Given the description of an element on the screen output the (x, y) to click on. 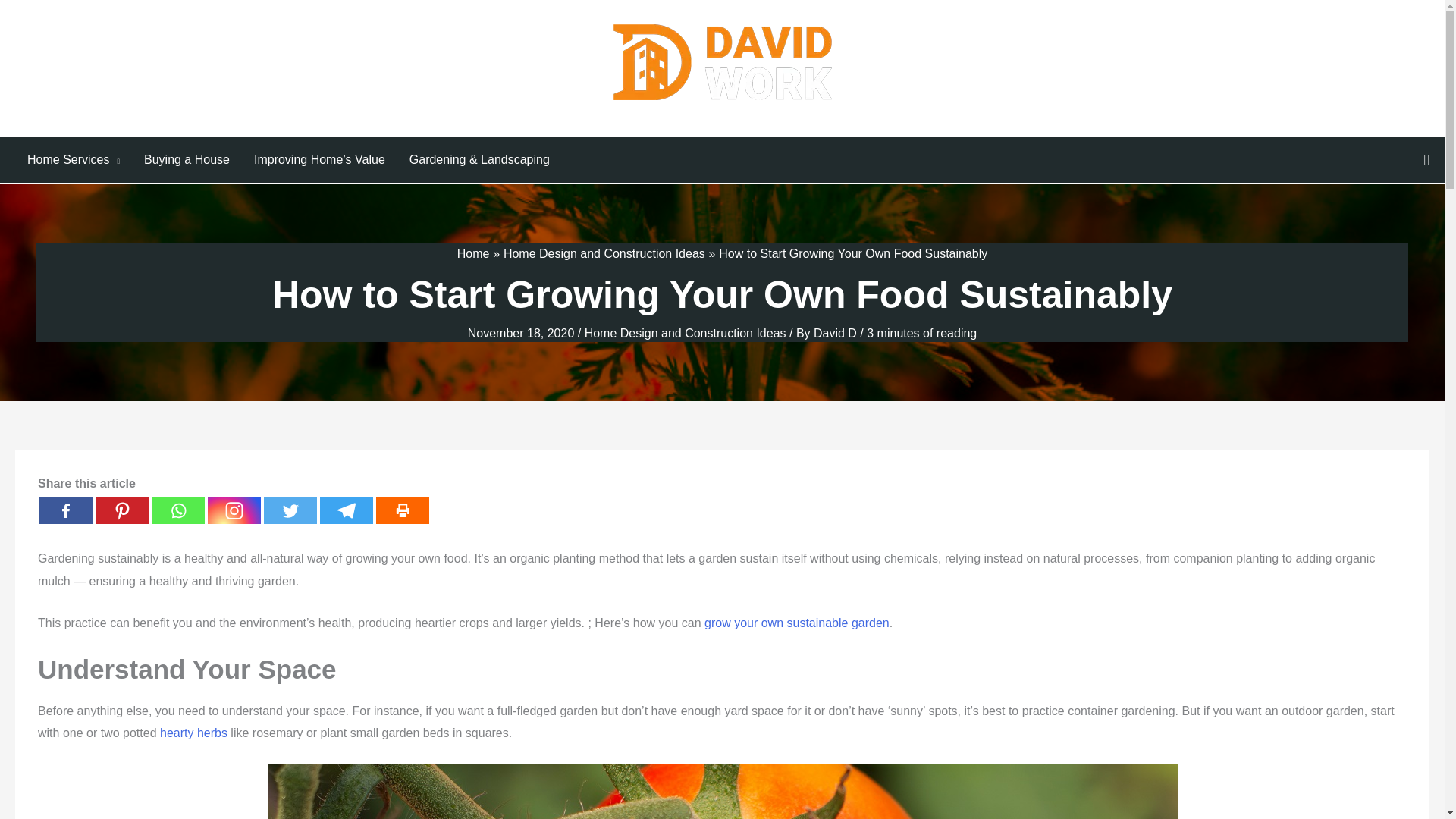
Home Design and Construction Ideas (685, 332)
Instagram (234, 510)
Home (473, 253)
Telegram (346, 510)
Buying a House (186, 159)
Facebook (66, 510)
hearty herbs (193, 732)
Twitter (290, 510)
View all posts by David D (836, 332)
Whatsapp (178, 510)
